Given the description of an element on the screen output the (x, y) to click on. 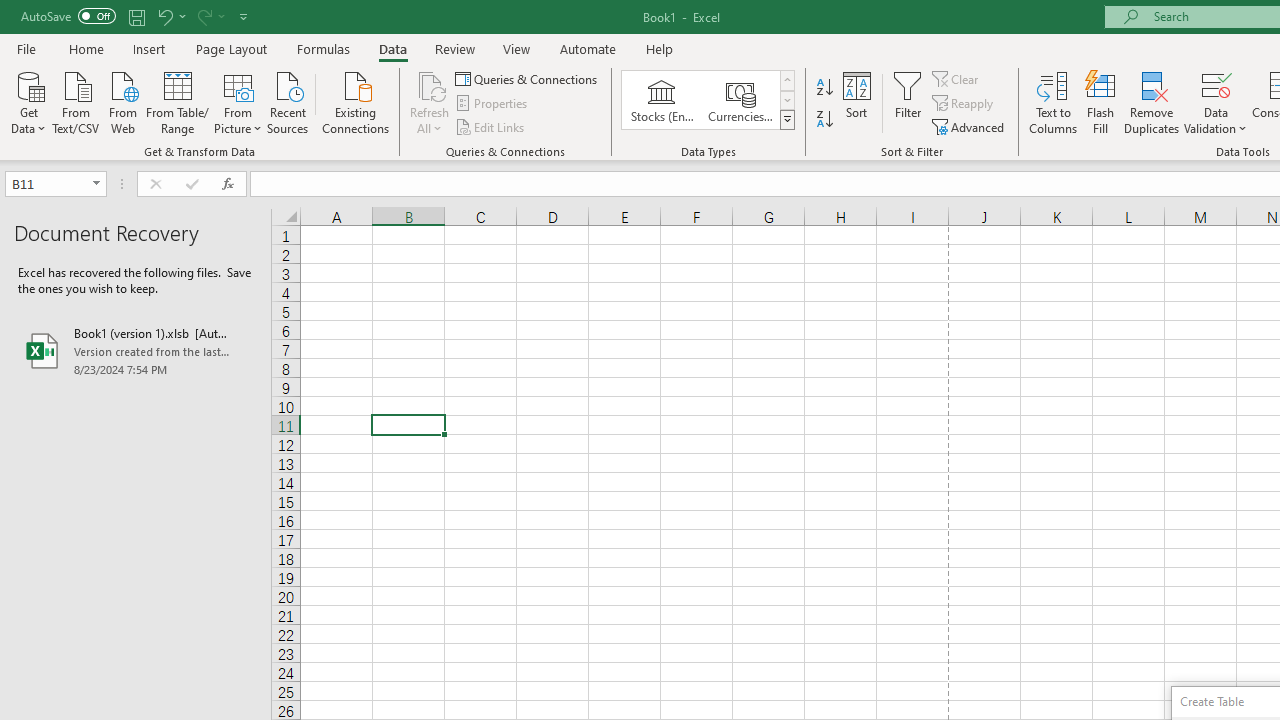
Stocks (English) (662, 100)
Data Types (786, 120)
Save (136, 15)
Refresh All (429, 102)
Quick Access Toolbar (136, 16)
Advanced... (970, 126)
Filter (908, 102)
Class: NetUIImage (787, 119)
Row up (786, 79)
From Text/CSV (75, 101)
Reapply (964, 103)
From Table/Range (177, 101)
Get Data (28, 101)
AutoSave (68, 16)
